Given the description of an element on the screen output the (x, y) to click on. 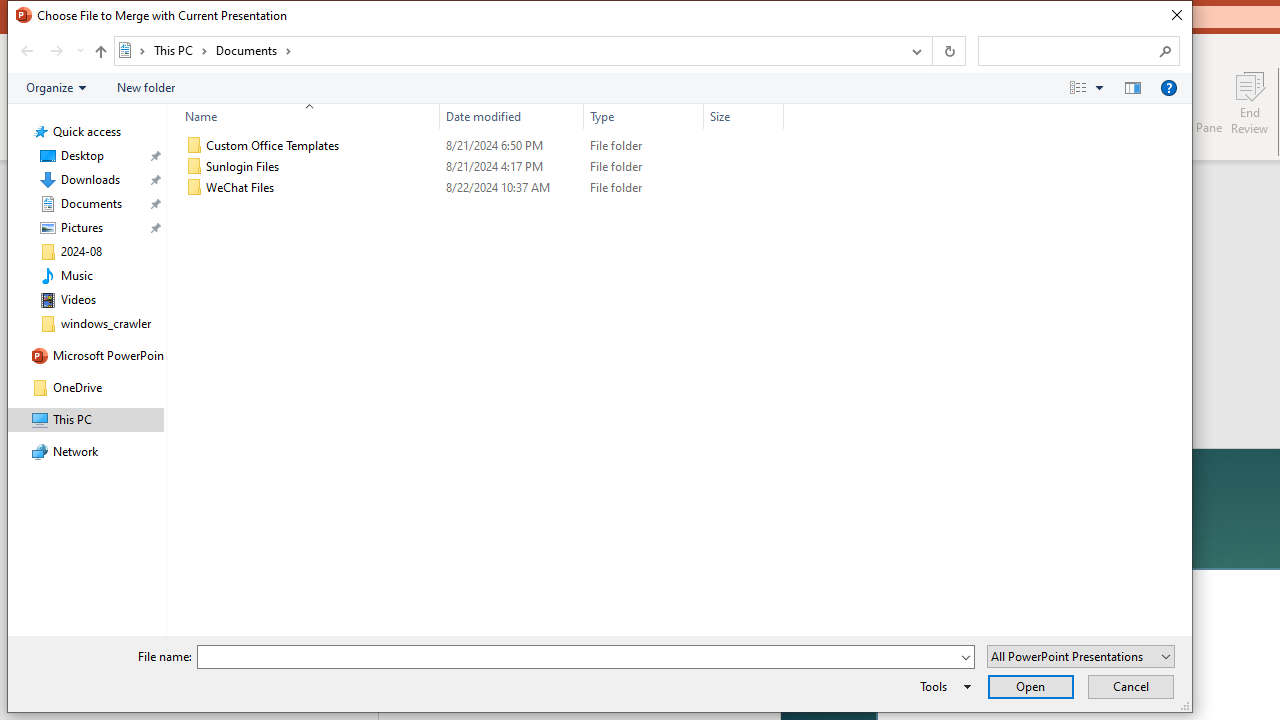
Files of type: (1080, 656)
Date modified (511, 187)
Preview pane (1132, 87)
Cancel (1130, 686)
This PC (180, 50)
Tools (942, 686)
Previous Locations (914, 51)
Views (1090, 87)
Name (303, 115)
Name (321, 187)
Search Box (1069, 50)
Custom Office Templates (480, 145)
End Review (1249, 102)
Address band toolbar (931, 51)
